Given the description of an element on the screen output the (x, y) to click on. 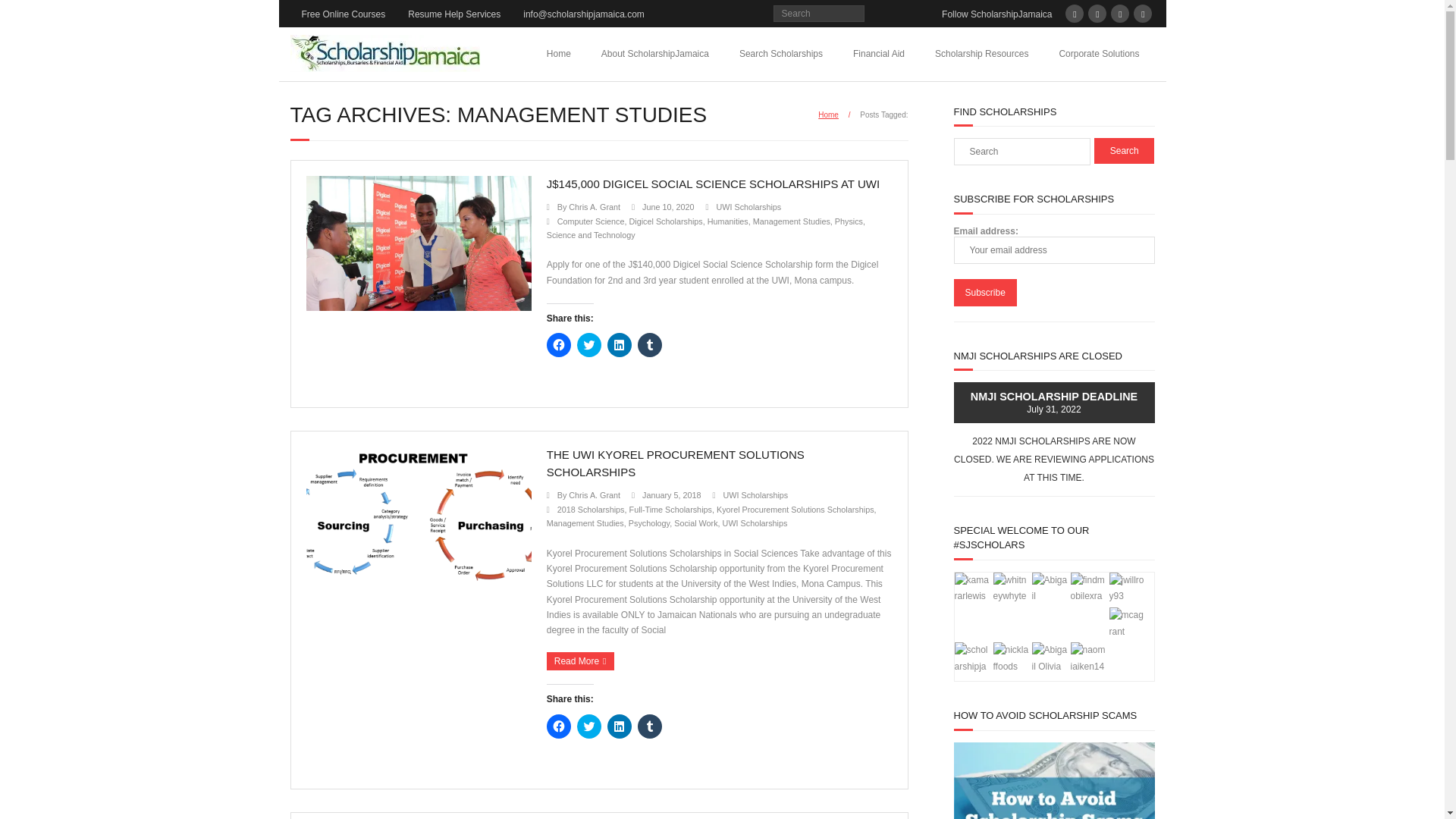
Free Online Courses (342, 13)
Subscribe (984, 292)
About ScholarshipJamaica (654, 53)
View all posts by Chris A. Grant (594, 494)
Click to share on LinkedIn (619, 726)
View all posts by Chris A. Grant (594, 206)
Home (558, 53)
Click to share on Twitter (588, 726)
Search Scholarships (780, 53)
